Given the description of an element on the screen output the (x, y) to click on. 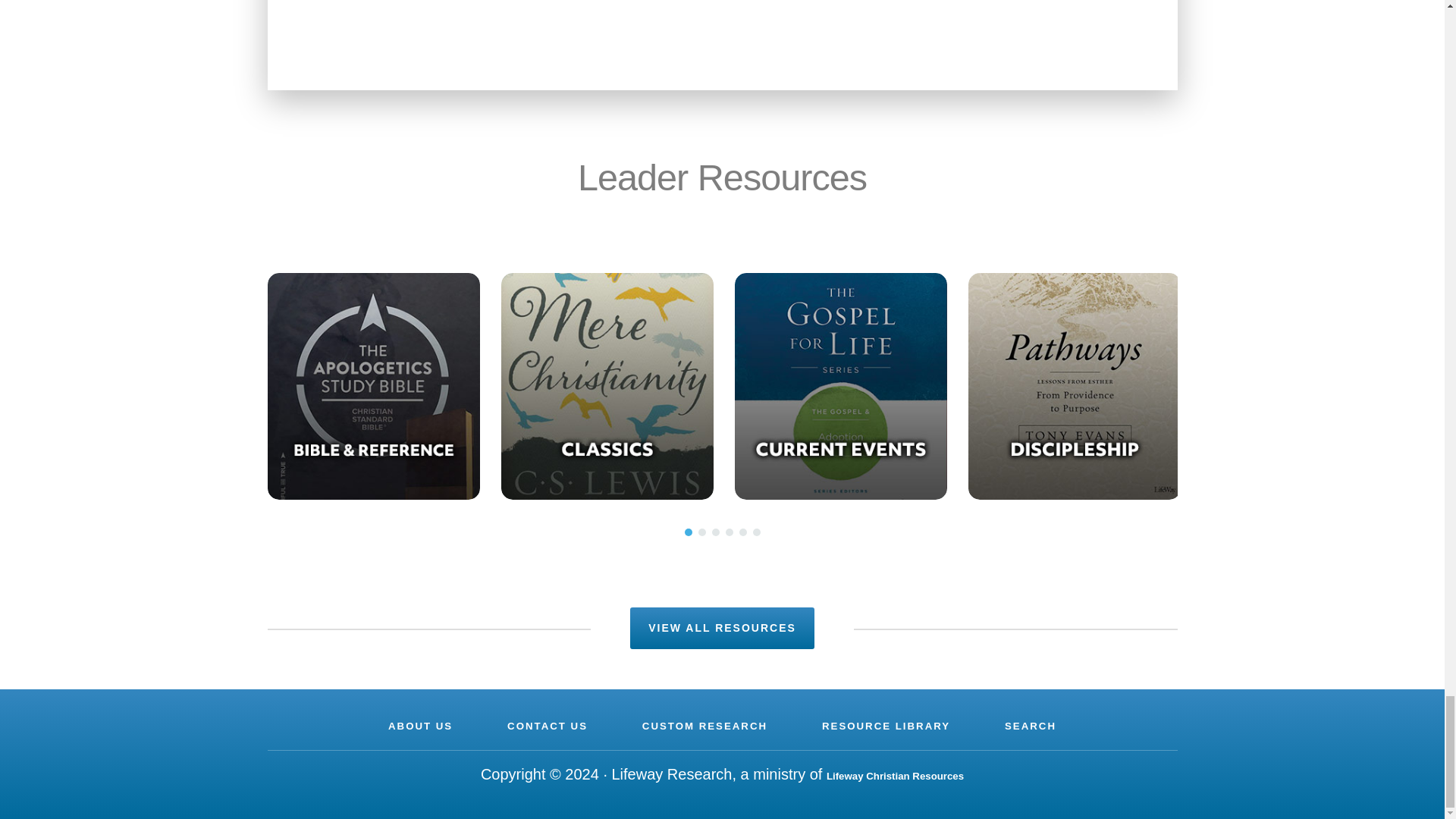
ABOUT US (420, 726)
CONTACT US (546, 726)
VIEW ALL RESOURCES (721, 628)
CUSTOM RESEARCH (704, 726)
RESOURCE LIBRARY (885, 726)
